Given the description of an element on the screen output the (x, y) to click on. 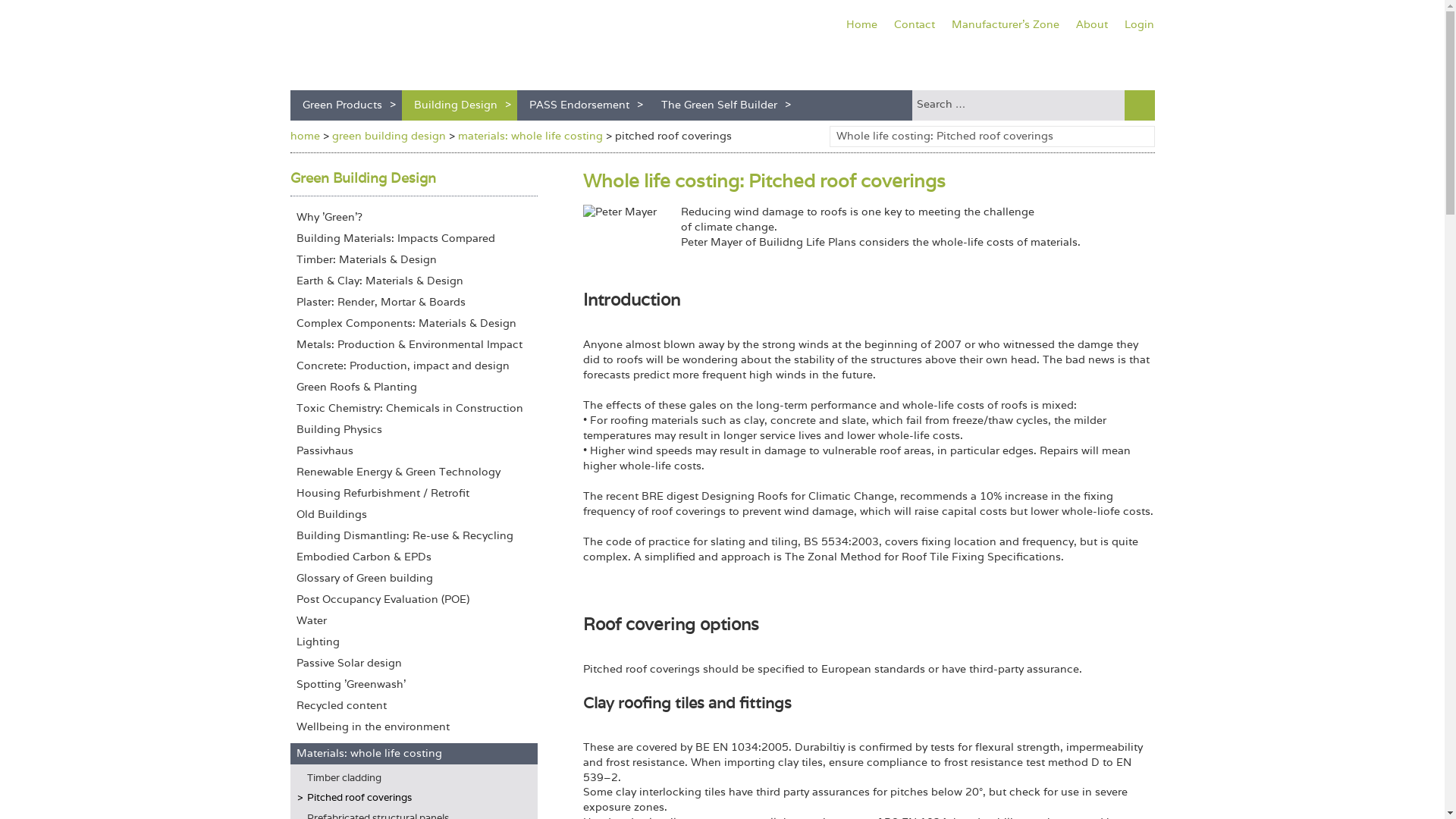
Contact (914, 25)
Home (861, 25)
green building design (388, 135)
The Green Self Builder (722, 105)
PASS Endorsement (582, 105)
About (1091, 25)
Why we choose Green building materials (413, 217)
Manufacturer's Zone (1005, 25)
Building Physics (413, 429)
Search (1017, 105)
